Given the description of an element on the screen output the (x, y) to click on. 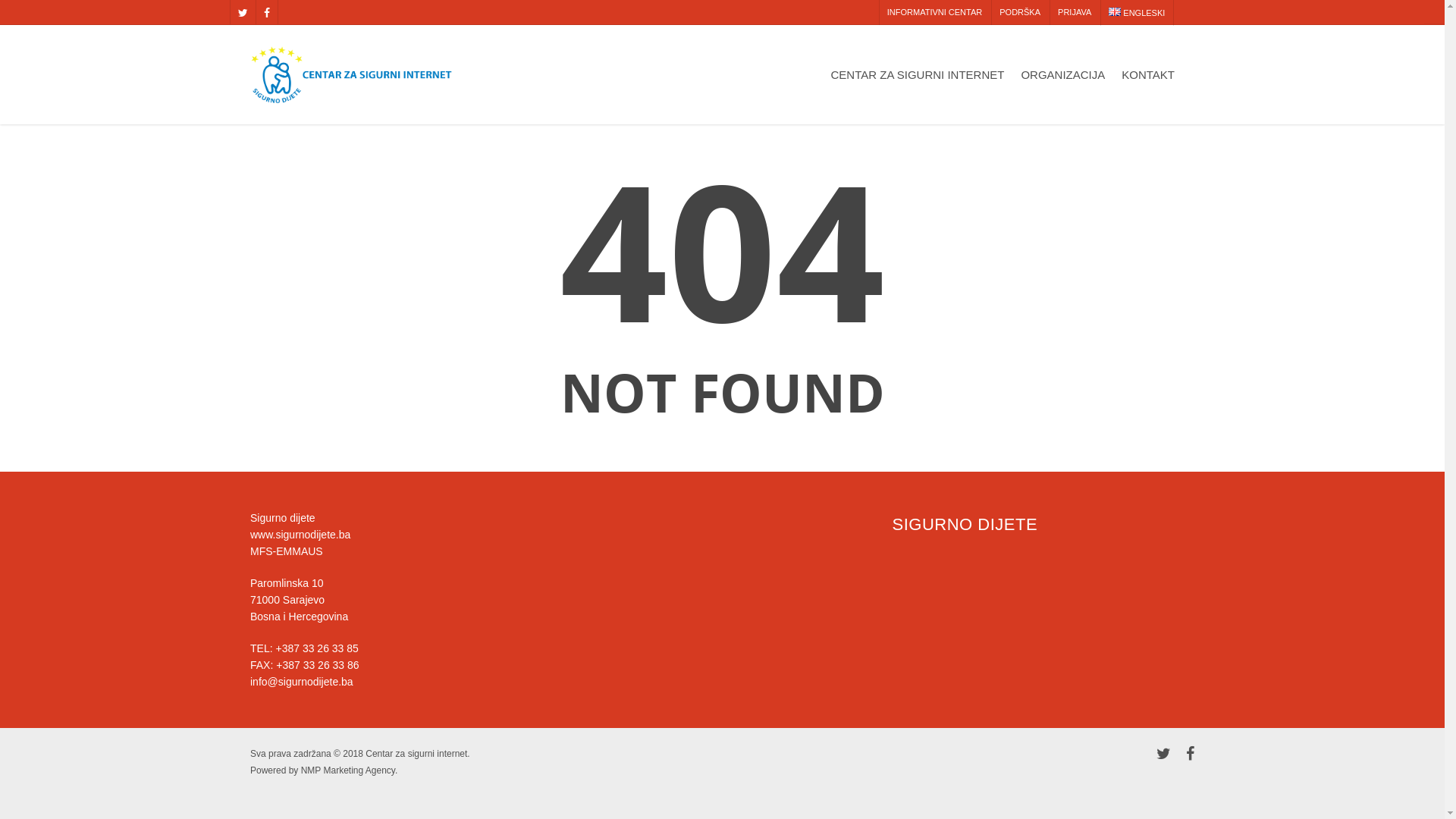
CENTAR ZA SIGURNI INTERNET Element type: text (917, 85)
NMP Marketing Agency Element type: text (348, 770)
PRIJAVA Element type: text (1073, 12)
INFORMATIVNI CENTAR Element type: text (933, 12)
www.sigurnodijete.ba Element type: text (300, 534)
ENGLESKI Element type: text (1136, 12)
ORGANIZACIJA Element type: text (1062, 85)
SIGURNO DIJETE Element type: text (965, 523)
KONTAKT Element type: text (1147, 85)
info@sigurnodijete.ba Element type: text (301, 681)
